Given the description of an element on the screen output the (x, y) to click on. 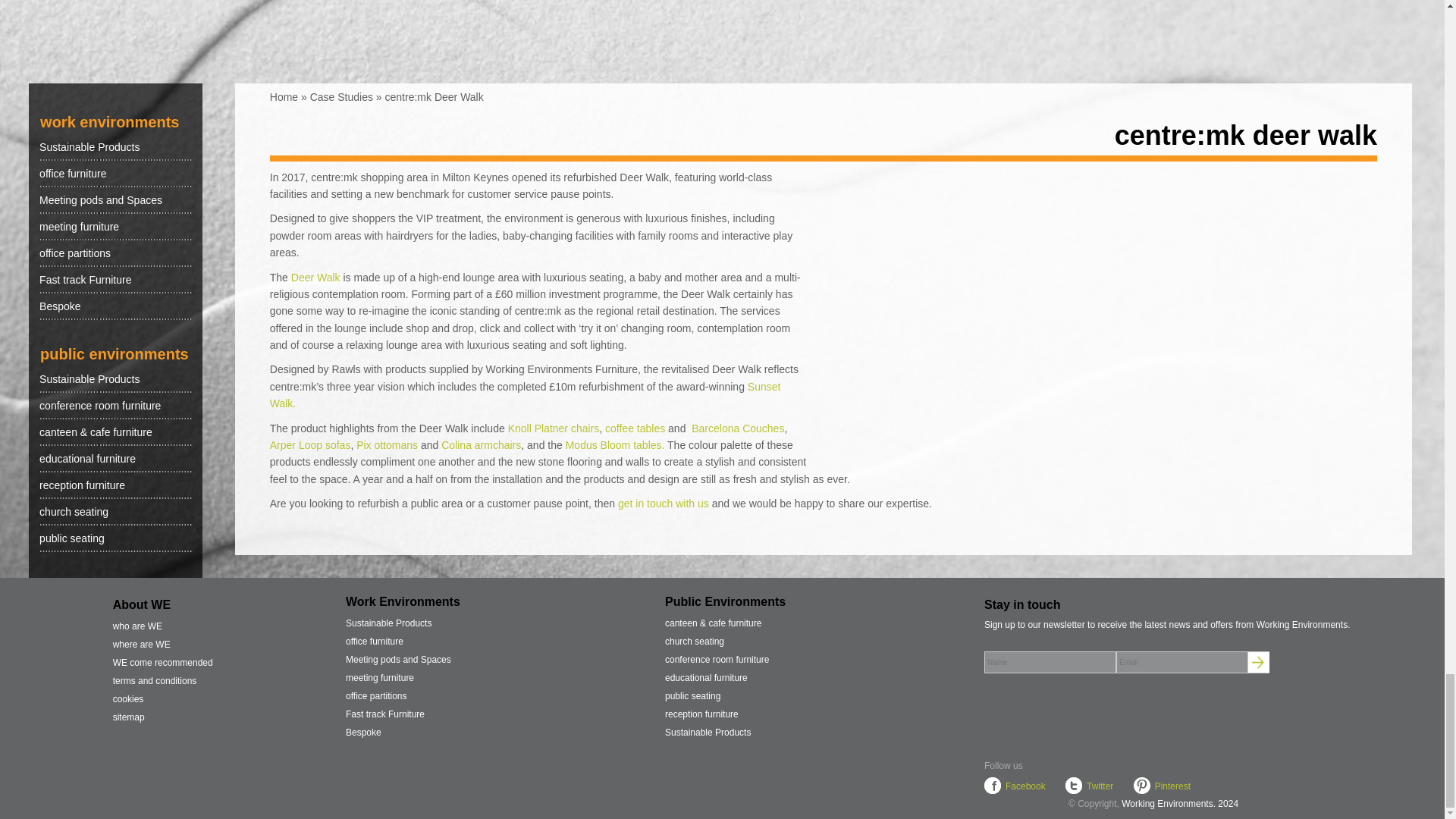
office furniture (114, 172)
Submit (1258, 662)
Meeting pods and Spaces (114, 200)
Sustainable Products (114, 147)
meeting furniture (114, 225)
